Given the description of an element on the screen output the (x, y) to click on. 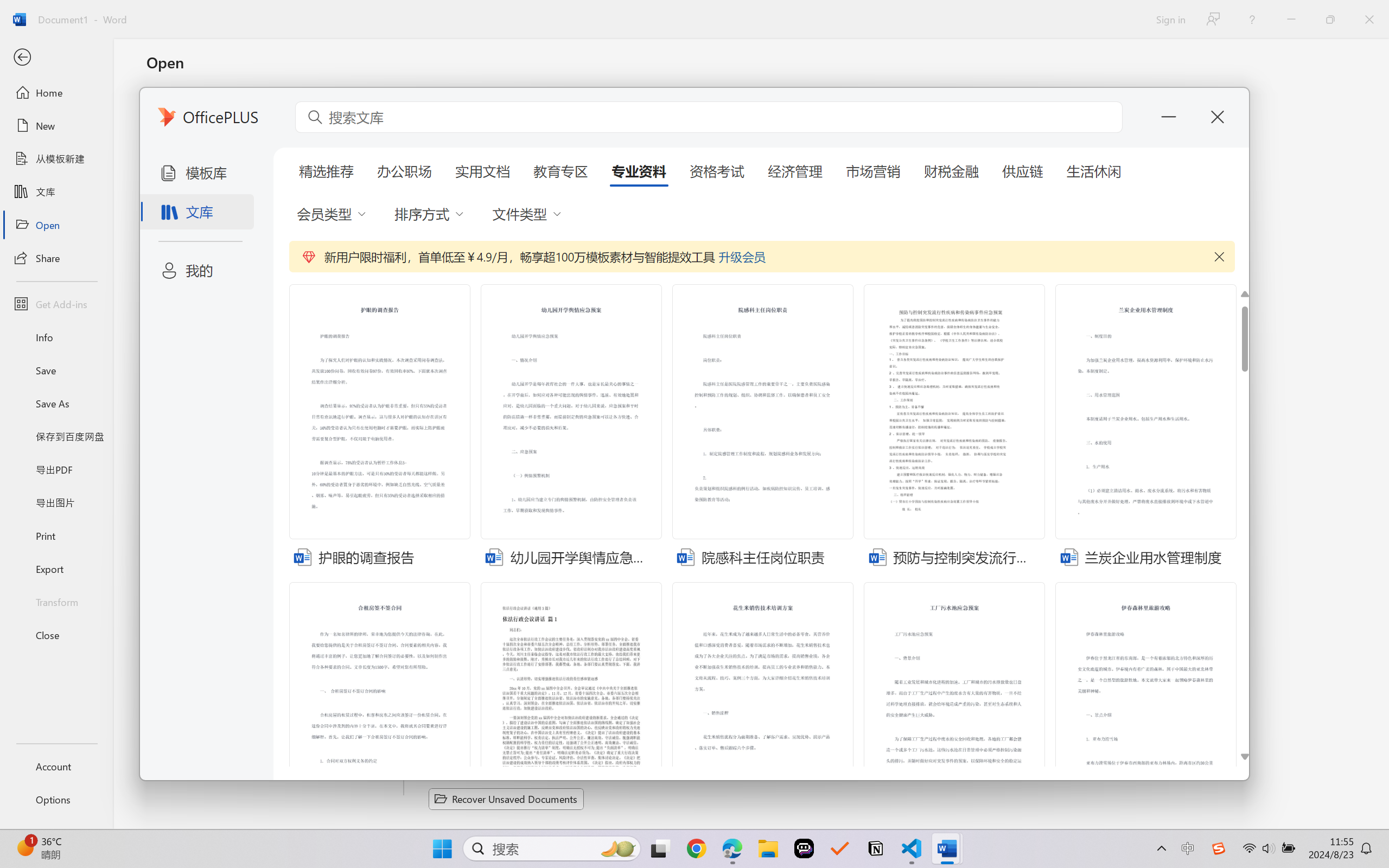
Account (56, 765)
Export (56, 568)
New (56, 125)
Class: ___510cvc0 f64fuq3 fjamq6b f11u7vat (1068, 555)
